Given the description of an element on the screen output the (x, y) to click on. 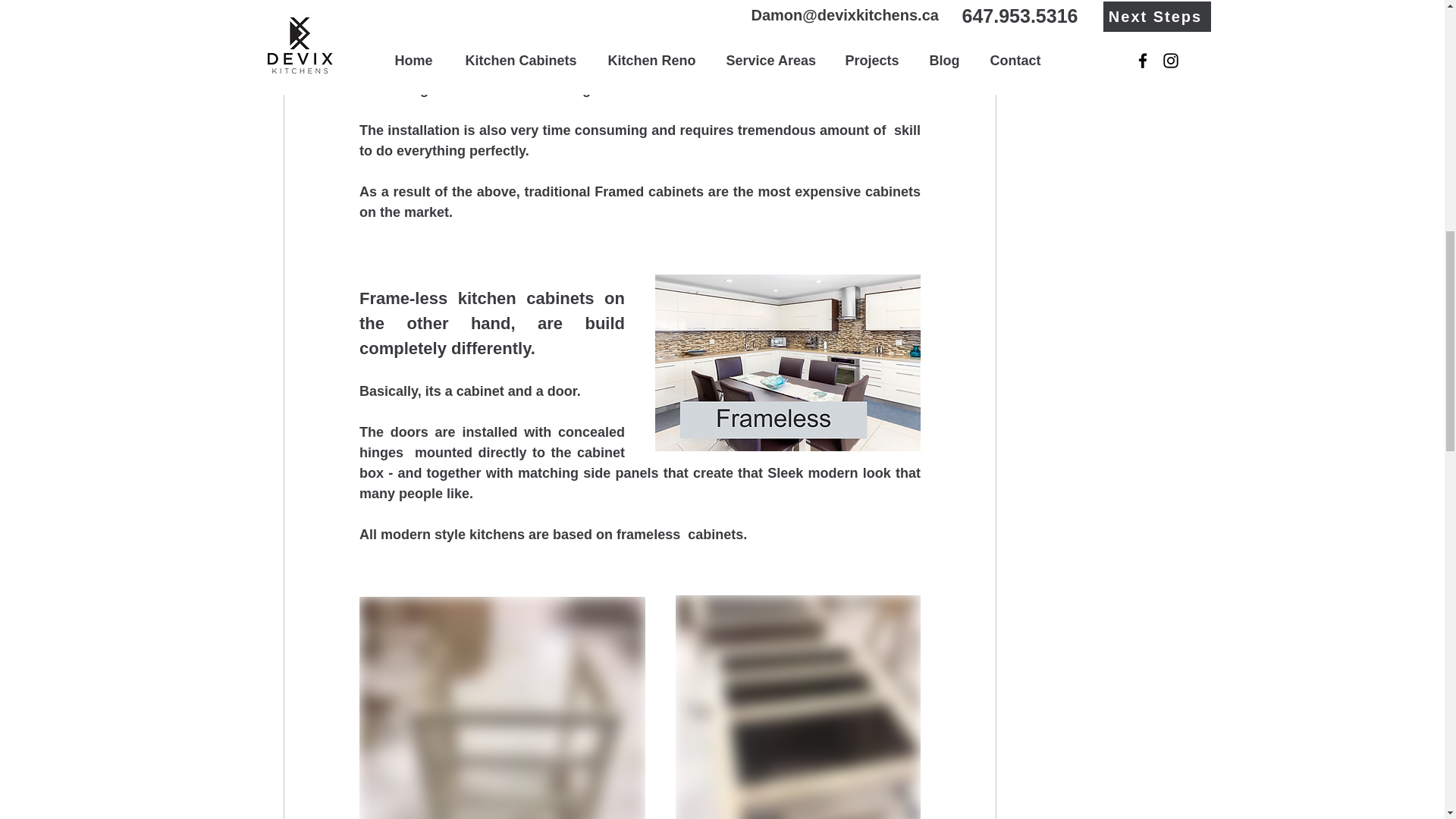
Sleek modern look (828, 473)
